Given the description of an element on the screen output the (x, y) to click on. 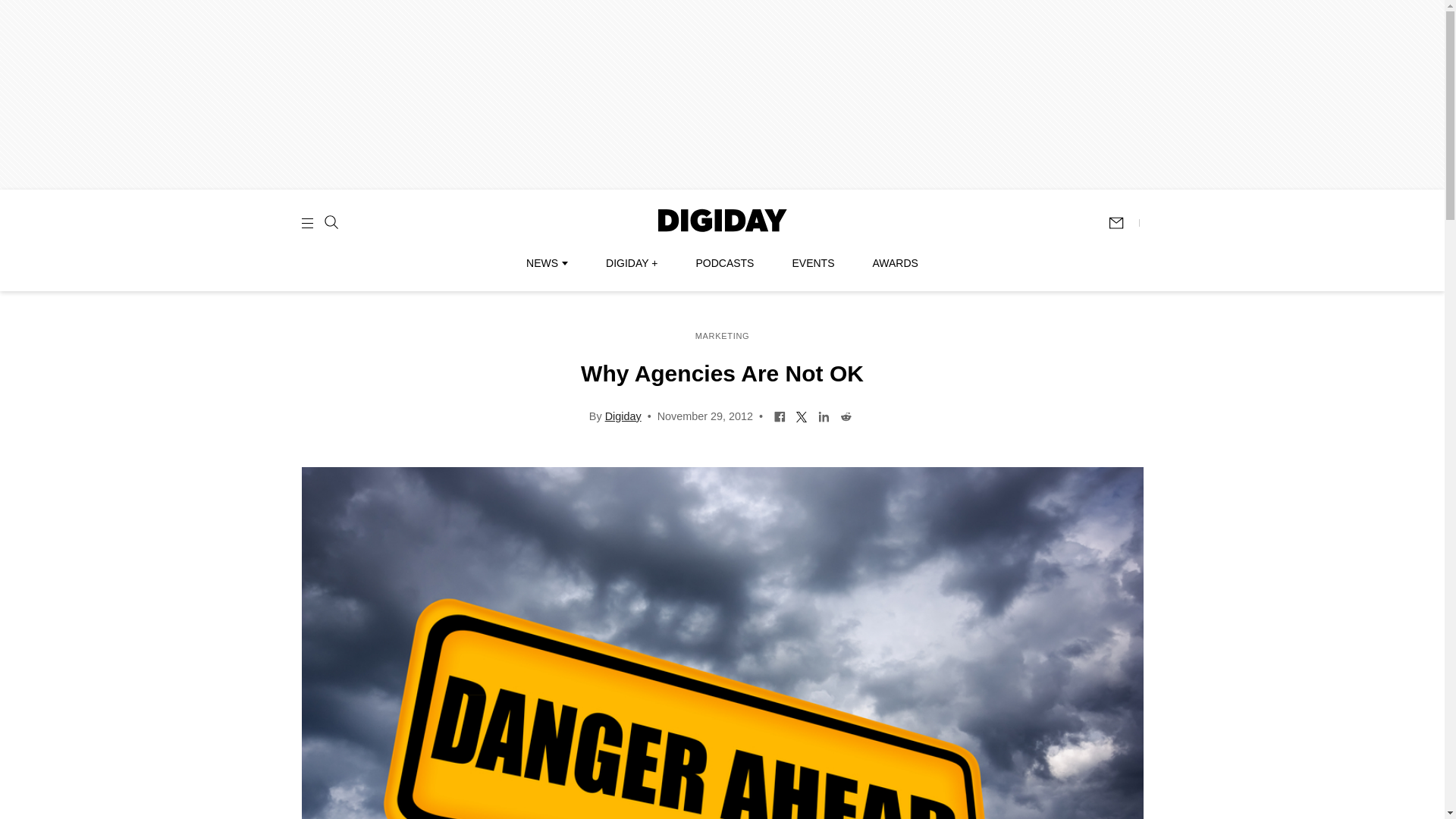
EVENTS (813, 262)
AWARDS (894, 262)
NEWS (546, 262)
PODCASTS (725, 262)
Share on LinkedIn (822, 415)
Subscribe (1123, 223)
Share on Twitter (801, 415)
Share on Facebook (779, 415)
Share on Reddit (845, 415)
